Given the description of an element on the screen output the (x, y) to click on. 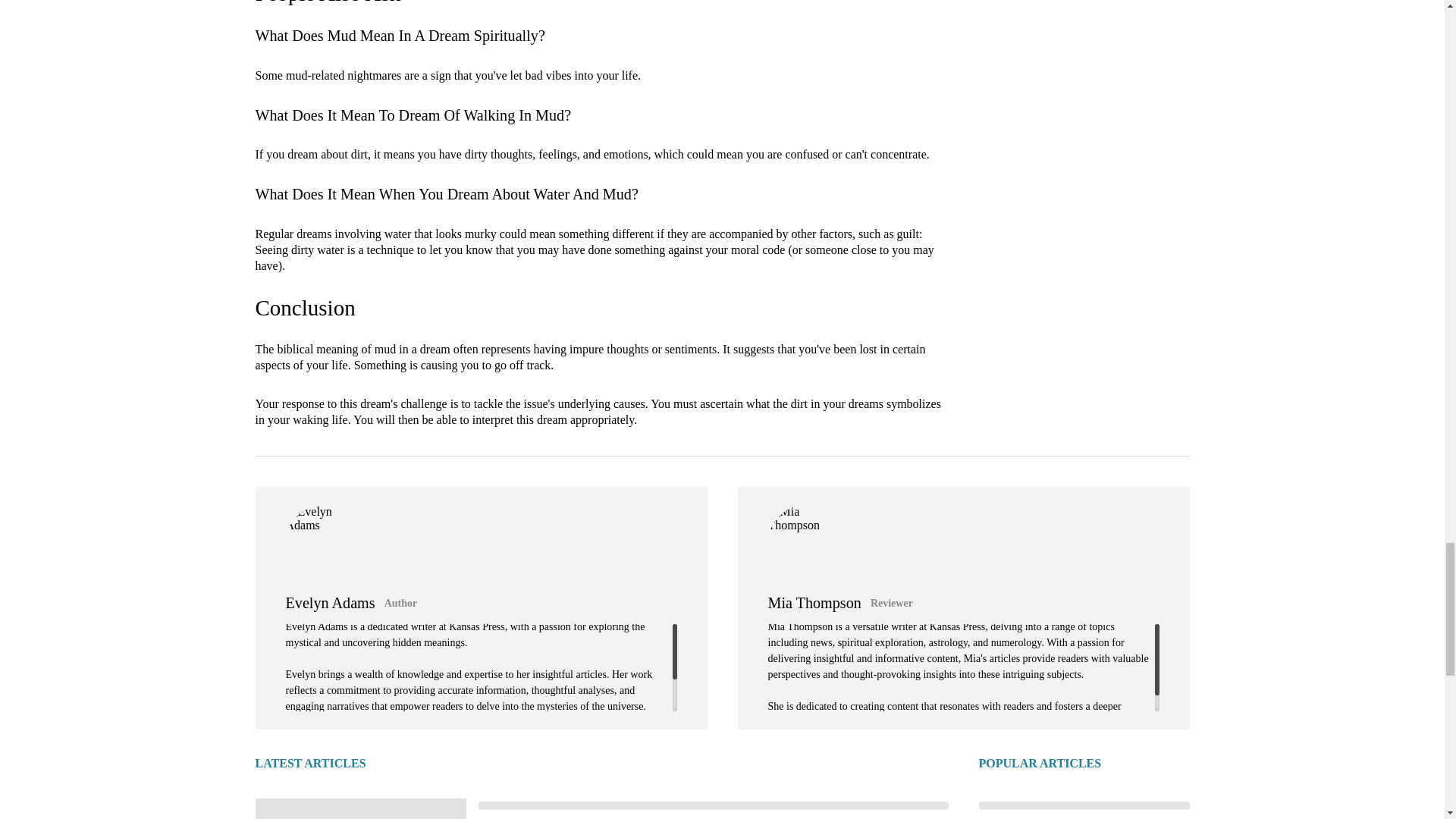
What Does Mud Mean In A Dream Spiritually? (399, 35)
What Does It Mean To Dream Of Walking In Mud? (412, 115)
What Does It Mean When You Dream About Water And Mud? (445, 193)
Conclusion (304, 307)
People Also Ask (327, 2)
